Given the description of an element on the screen output the (x, y) to click on. 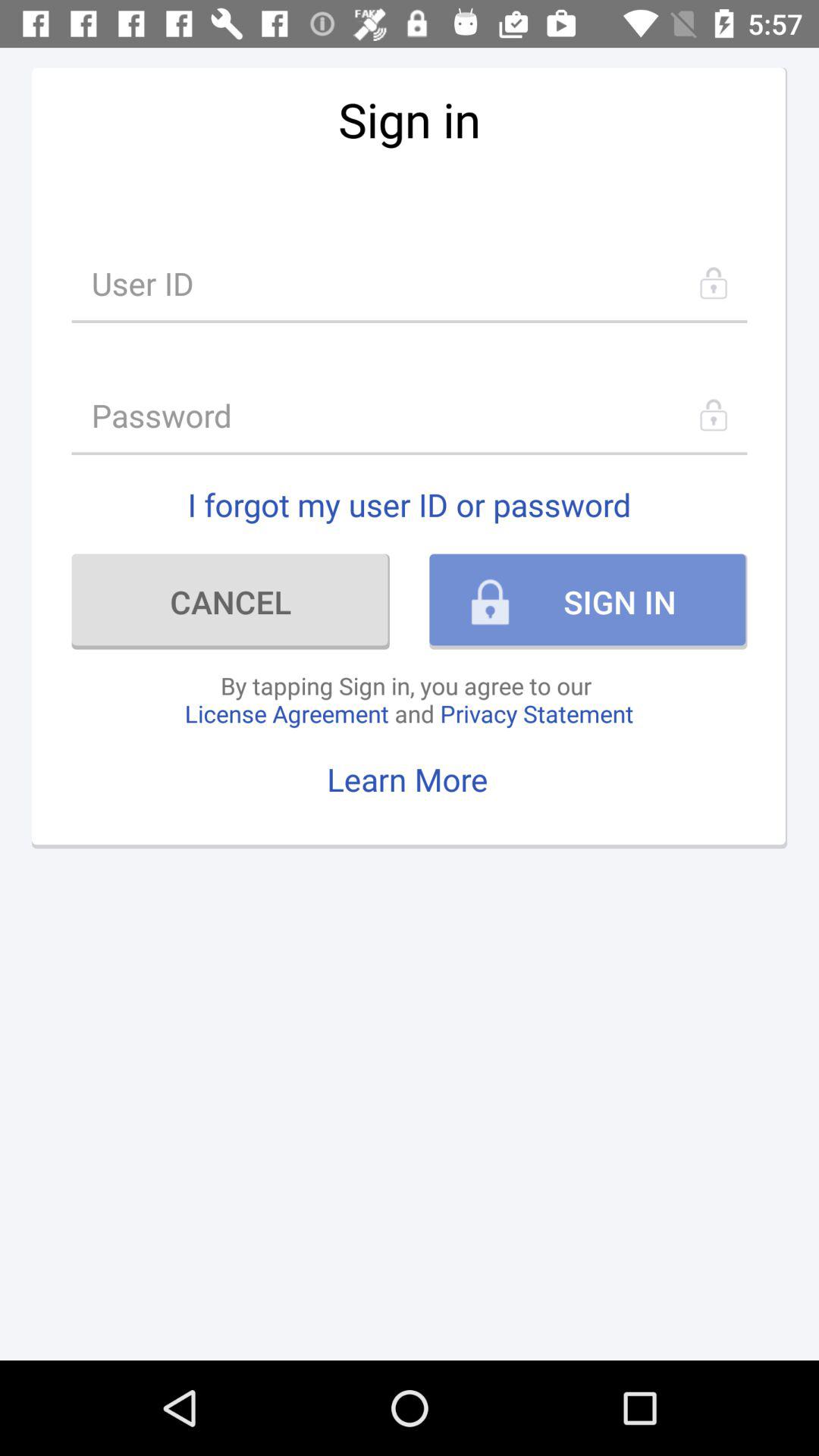
click the icon next to sign in icon (230, 601)
